Given the description of an element on the screen output the (x, y) to click on. 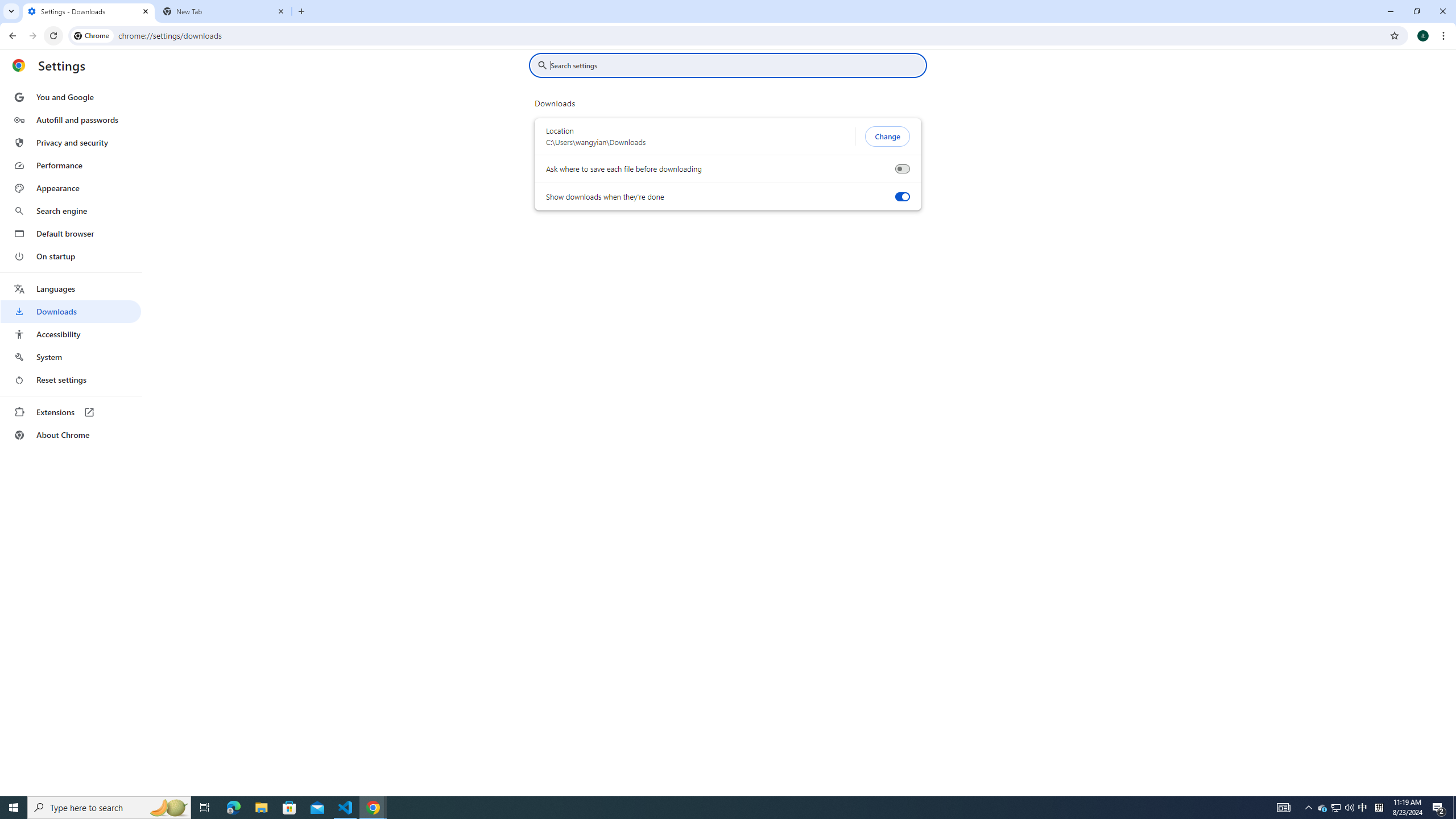
Accessibility (70, 333)
Settings - Downloads (88, 11)
New Tab (224, 11)
Ask where to save each file before downloading (901, 168)
Default browser (70, 233)
AutomationID: menu (71, 265)
Extensions (70, 412)
Change (887, 136)
Search settings (735, 65)
Show downloads when they're done (901, 197)
